Given the description of an element on the screen output the (x, y) to click on. 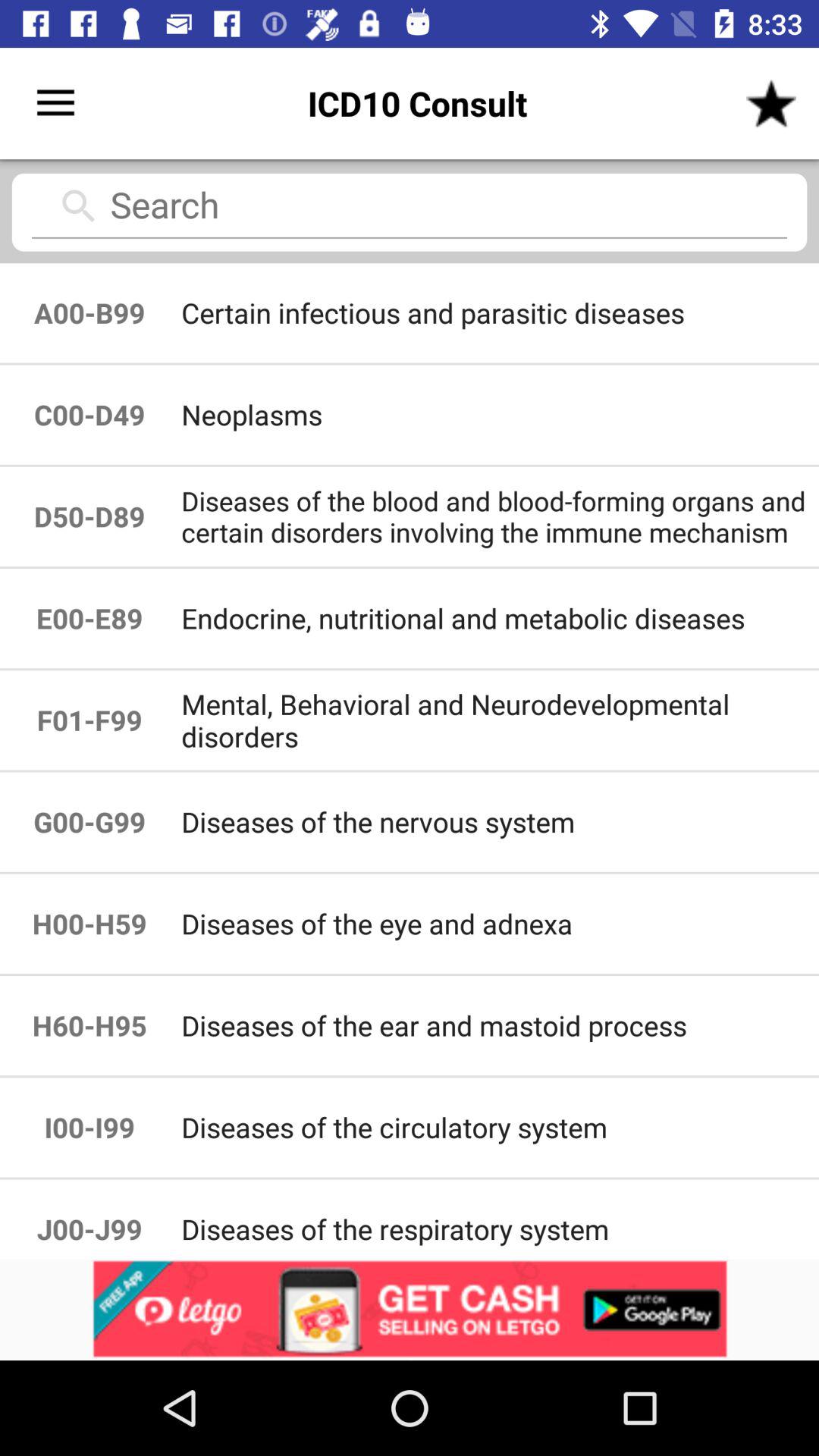
open the item below the d50-d89 item (499, 618)
